Given the description of an element on the screen output the (x, y) to click on. 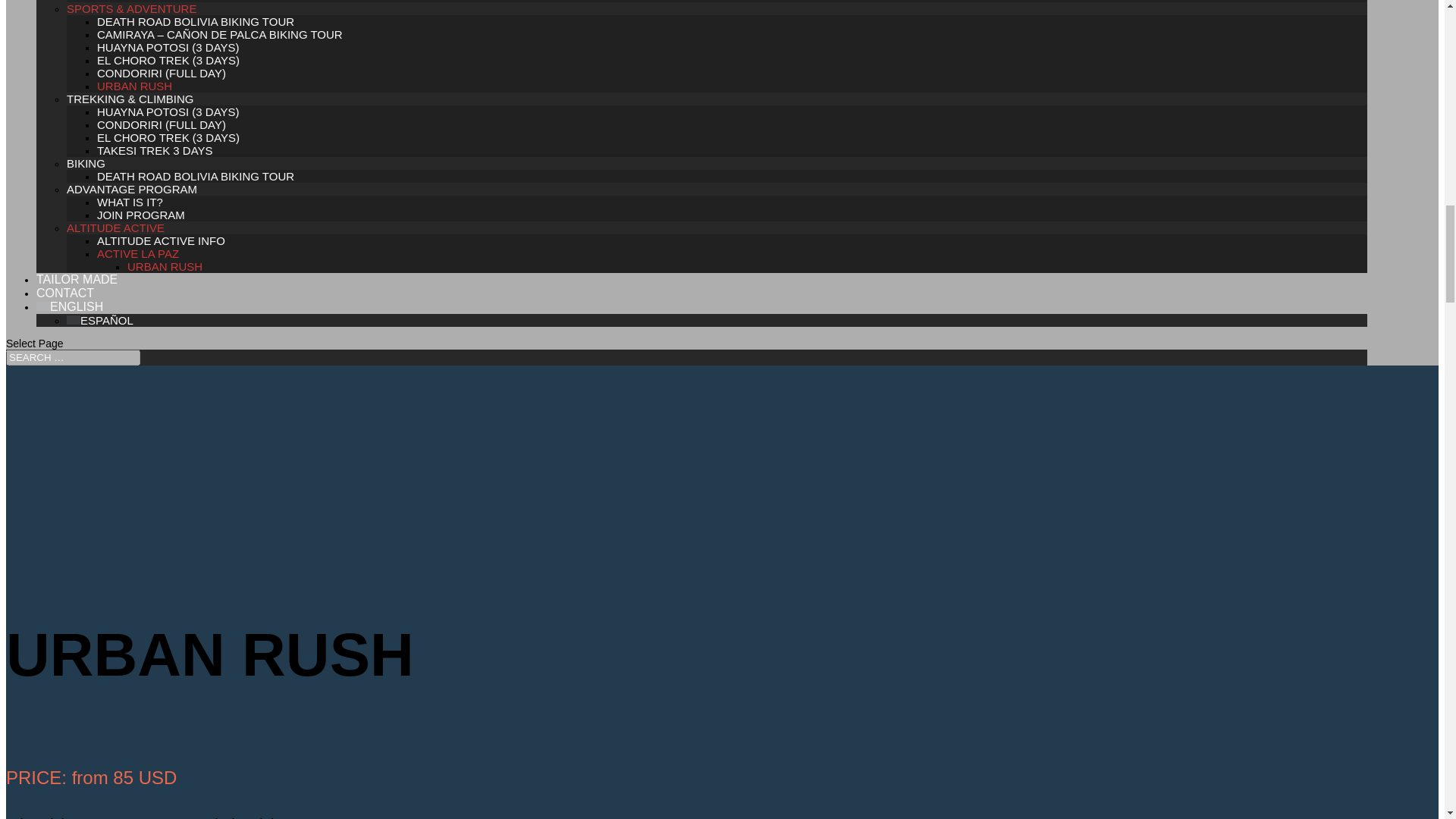
Search for: (72, 357)
English (69, 306)
